Given the description of an element on the screen output the (x, y) to click on. 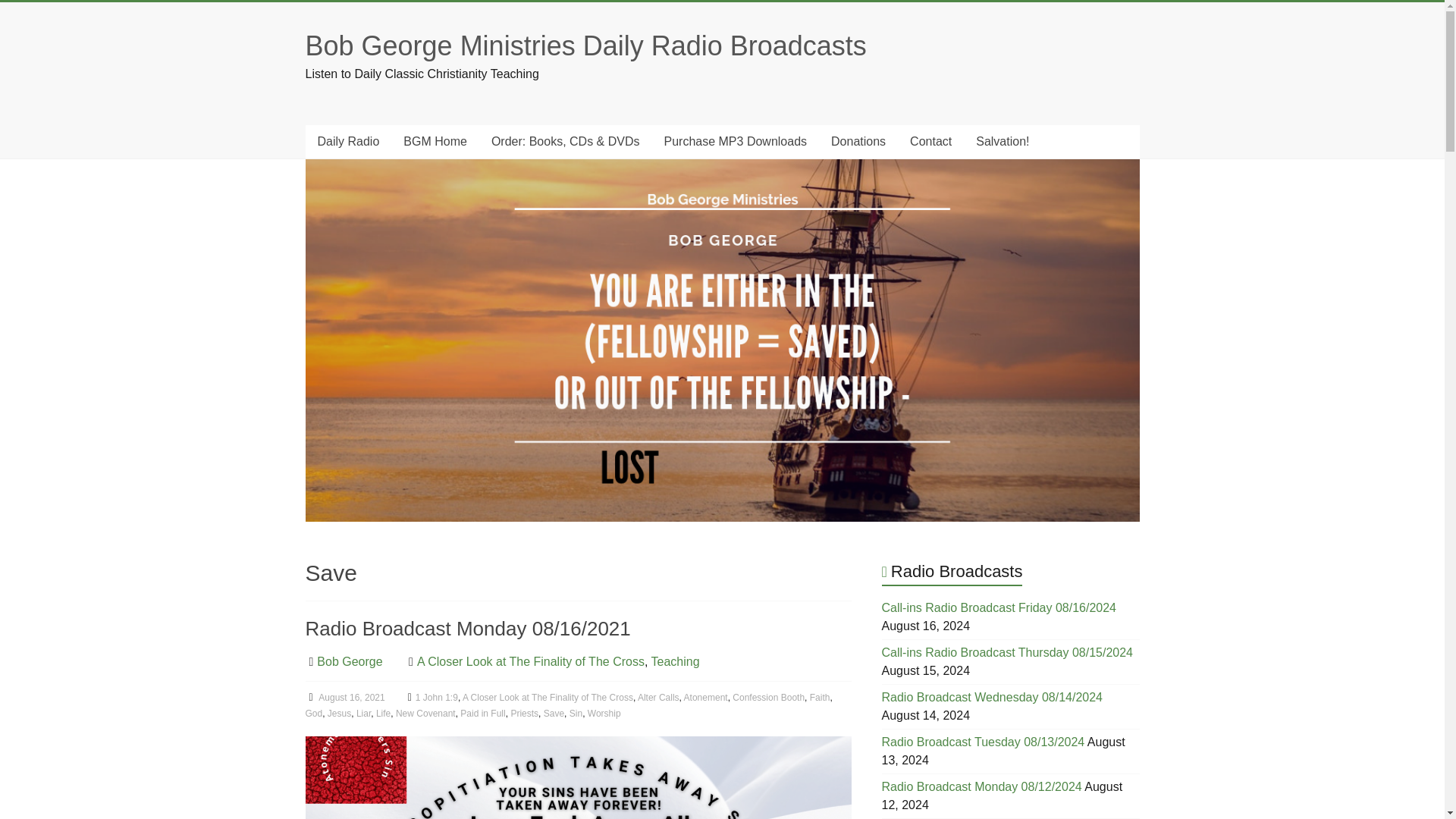
Salvation! (1002, 141)
Contact (930, 141)
New Covenant (425, 713)
God (312, 713)
Faith (819, 697)
A Closer Look at The Finality of The Cross (548, 697)
Atonement (706, 697)
August 16, 2021 (344, 697)
Jesus (338, 713)
Liar (363, 713)
